Given the description of an element on the screen output the (x, y) to click on. 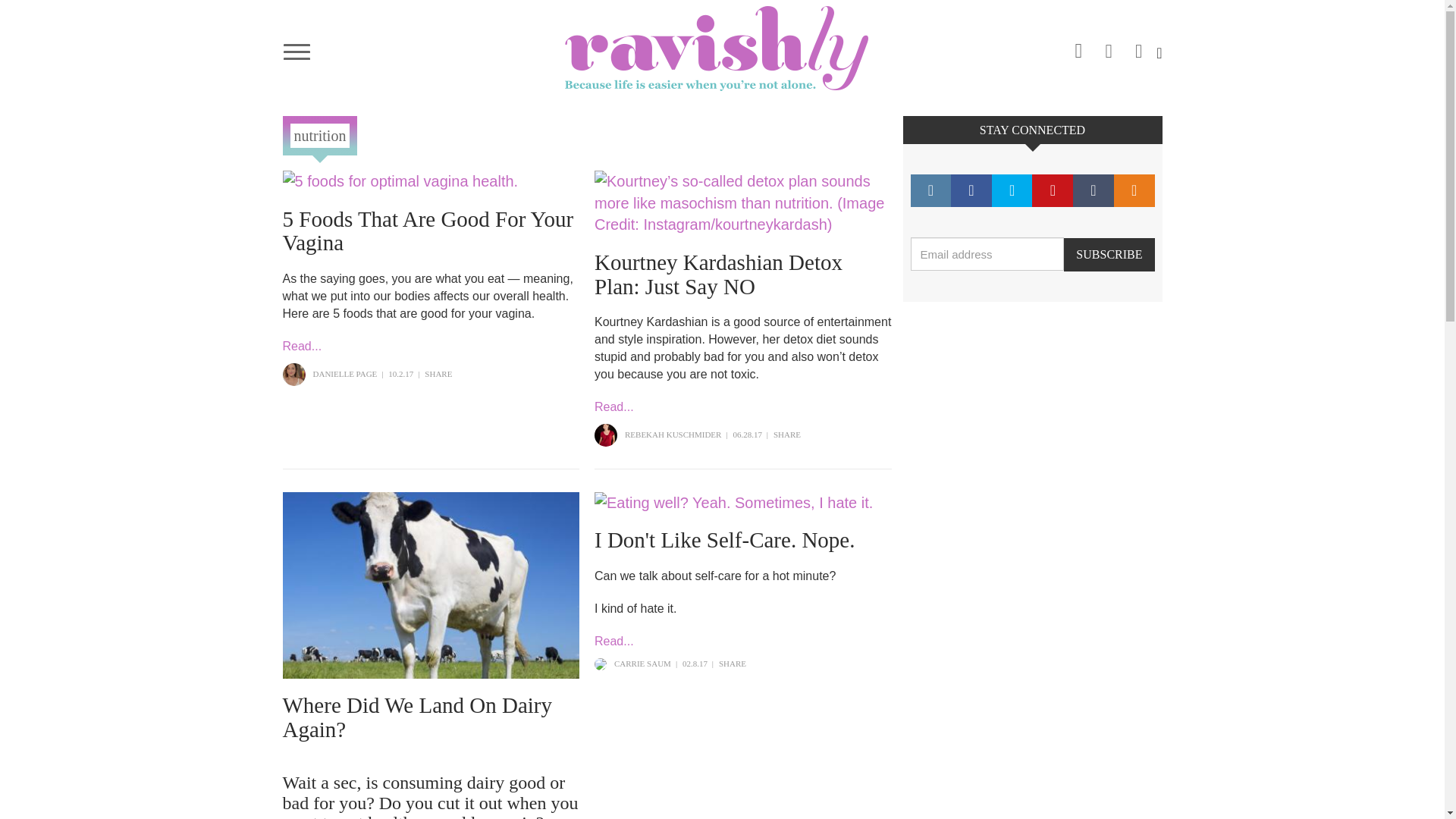
Read... (301, 345)
DANIELLE PAGE (345, 373)
twitter (1138, 46)
SUBSCRIBE (1109, 254)
5 foods for optimal vagina health. (430, 181)
Kourtney Kardashian Detox Plan: Just Say NO (718, 274)
Home (721, 47)
facebook (1108, 46)
